Given the description of an element on the screen output the (x, y) to click on. 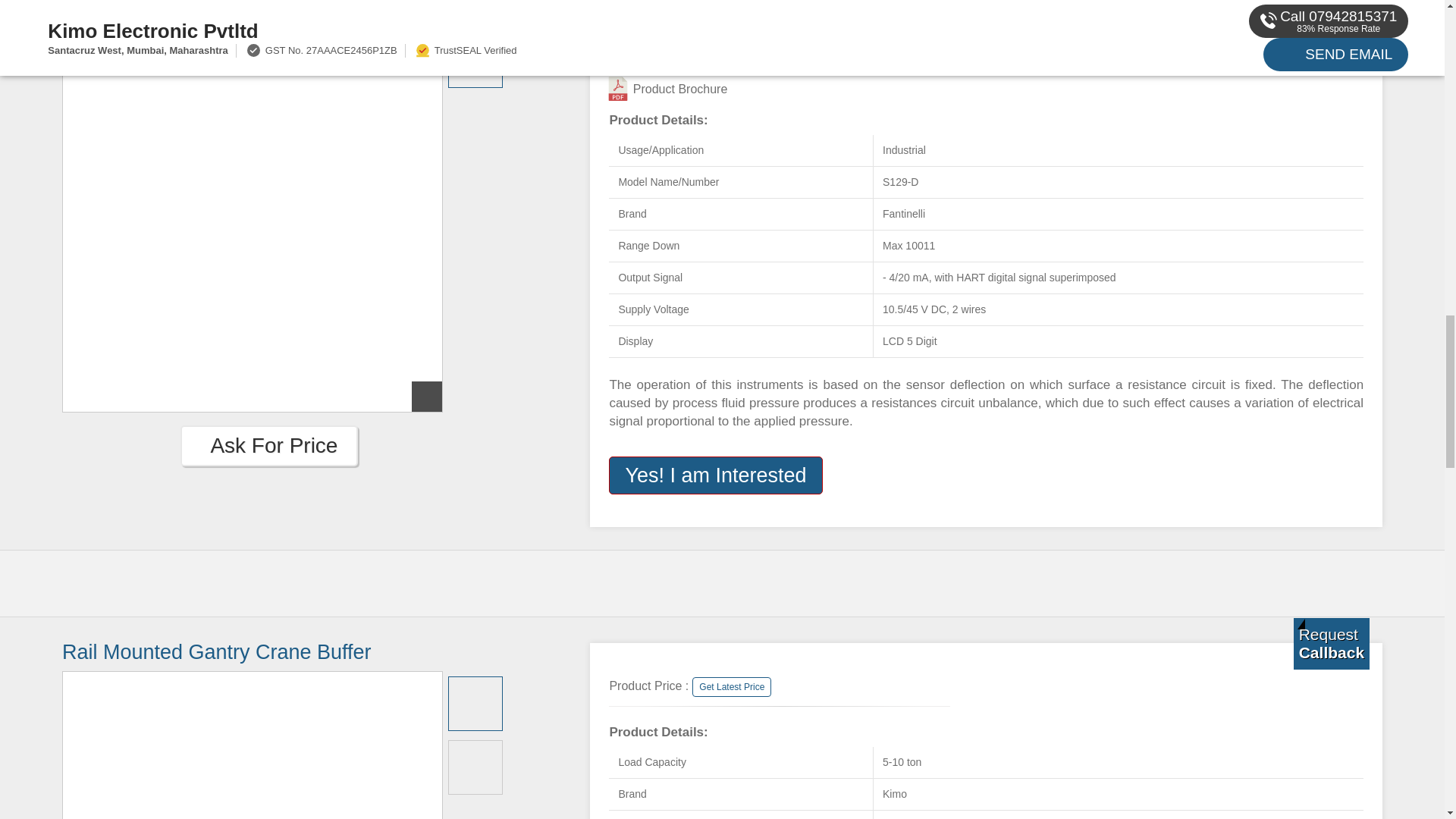
Get a Call from us (1332, 643)
Get a Call from us (1332, 12)
